Given the description of an element on the screen output the (x, y) to click on. 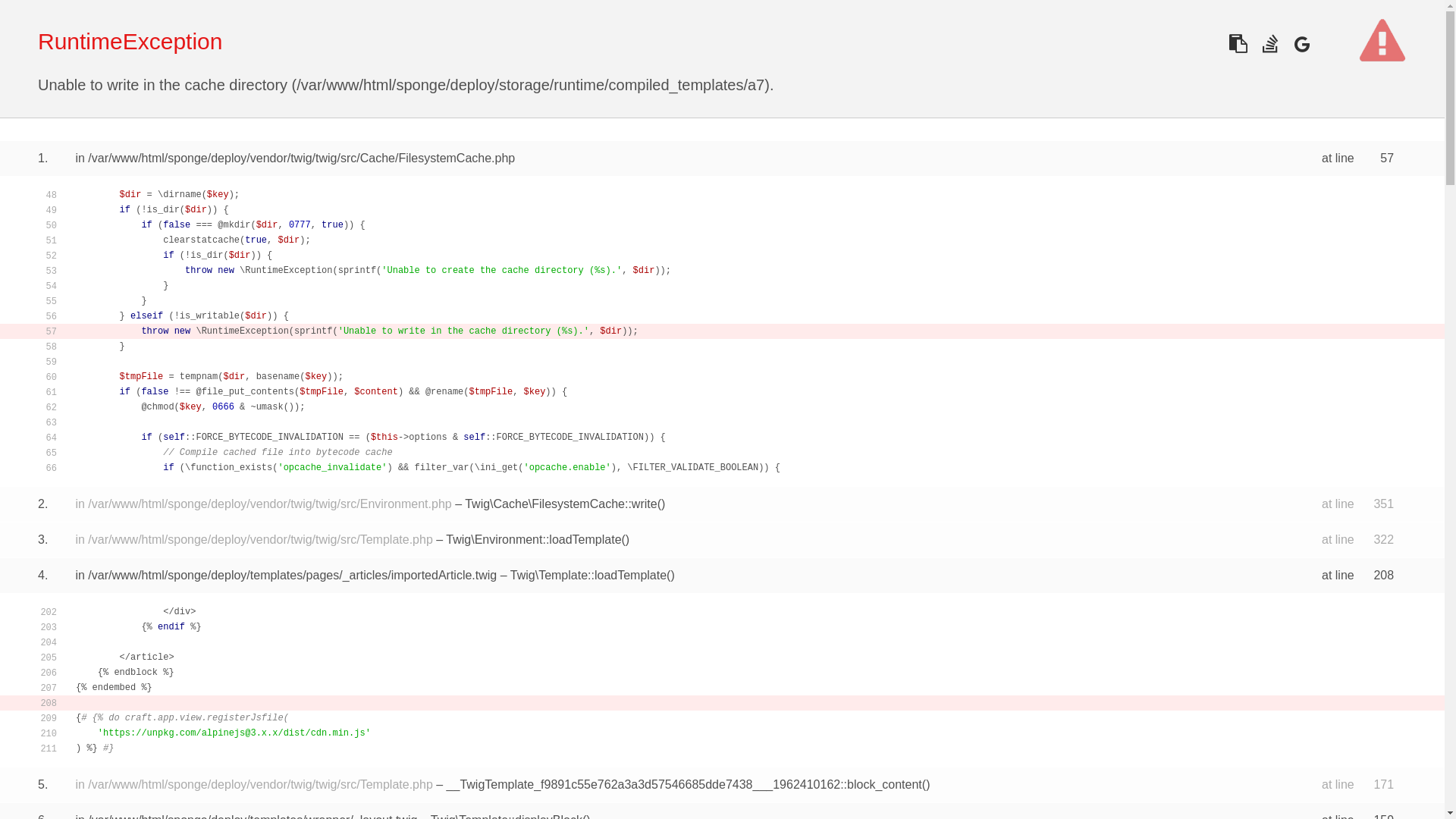
Search error on Stackoverflow (1269, 43)
Copy the stacktrace for use in a bug report or pastebin (1237, 43)
Search error on Google (1301, 43)
